Given the description of an element on the screen output the (x, y) to click on. 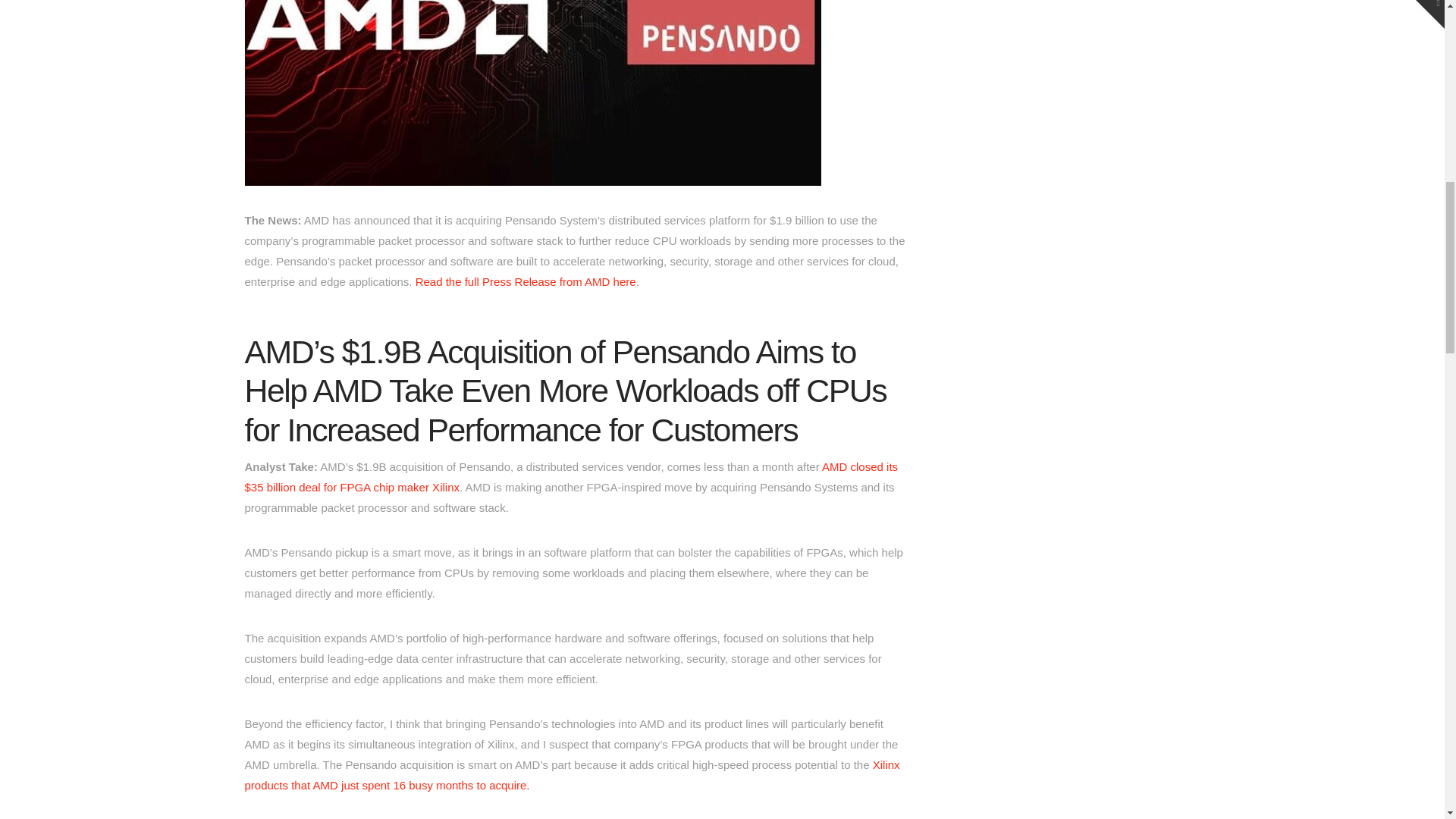
Read the full Press Release from AMD here (525, 281)
